Given the description of an element on the screen output the (x, y) to click on. 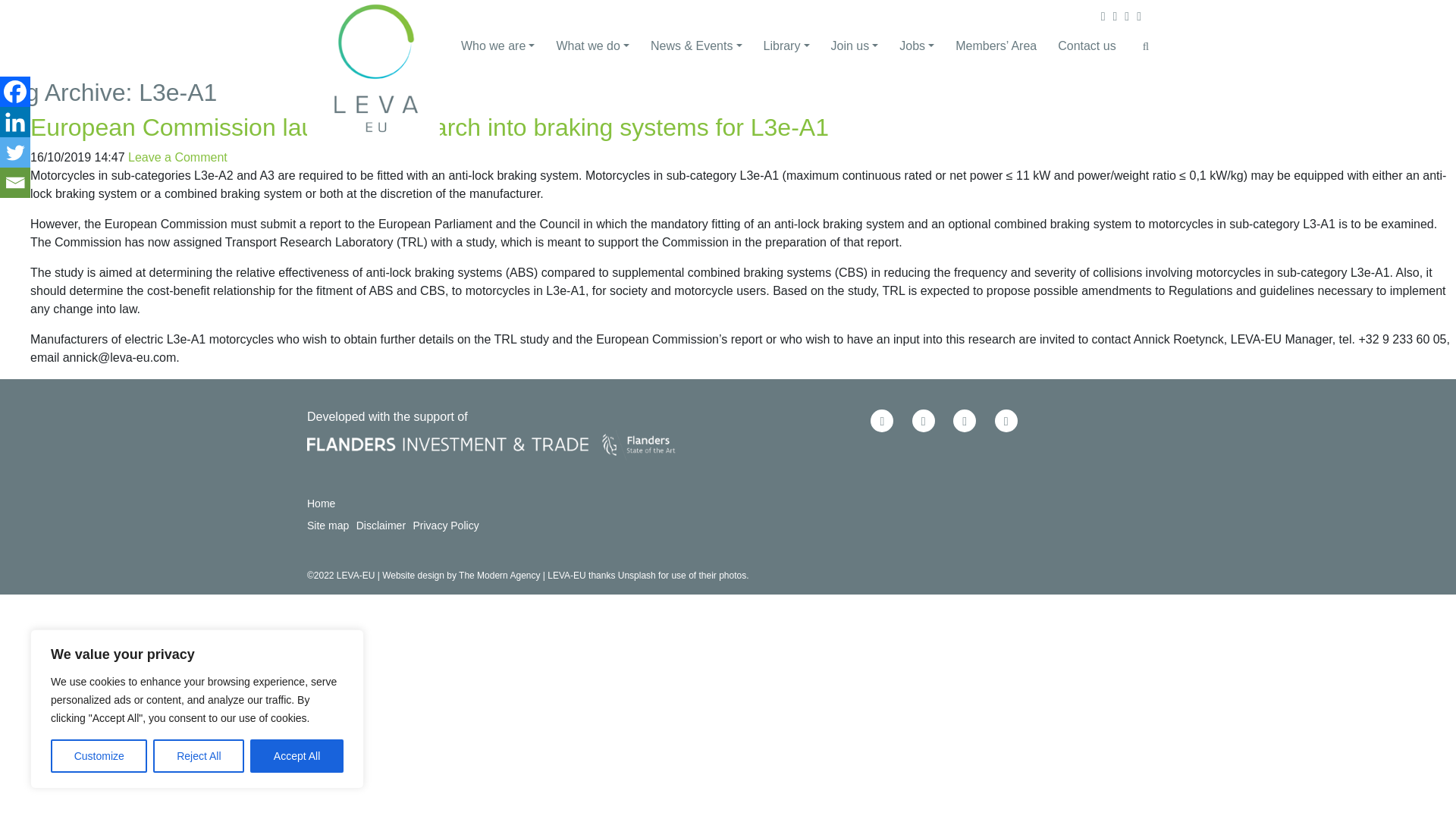
Facebook (15, 91)
Who we are (486, 45)
Email (15, 182)
Twitter (15, 152)
Linkedin (15, 122)
What we do (581, 45)
